Given the description of an element on the screen output the (x, y) to click on. 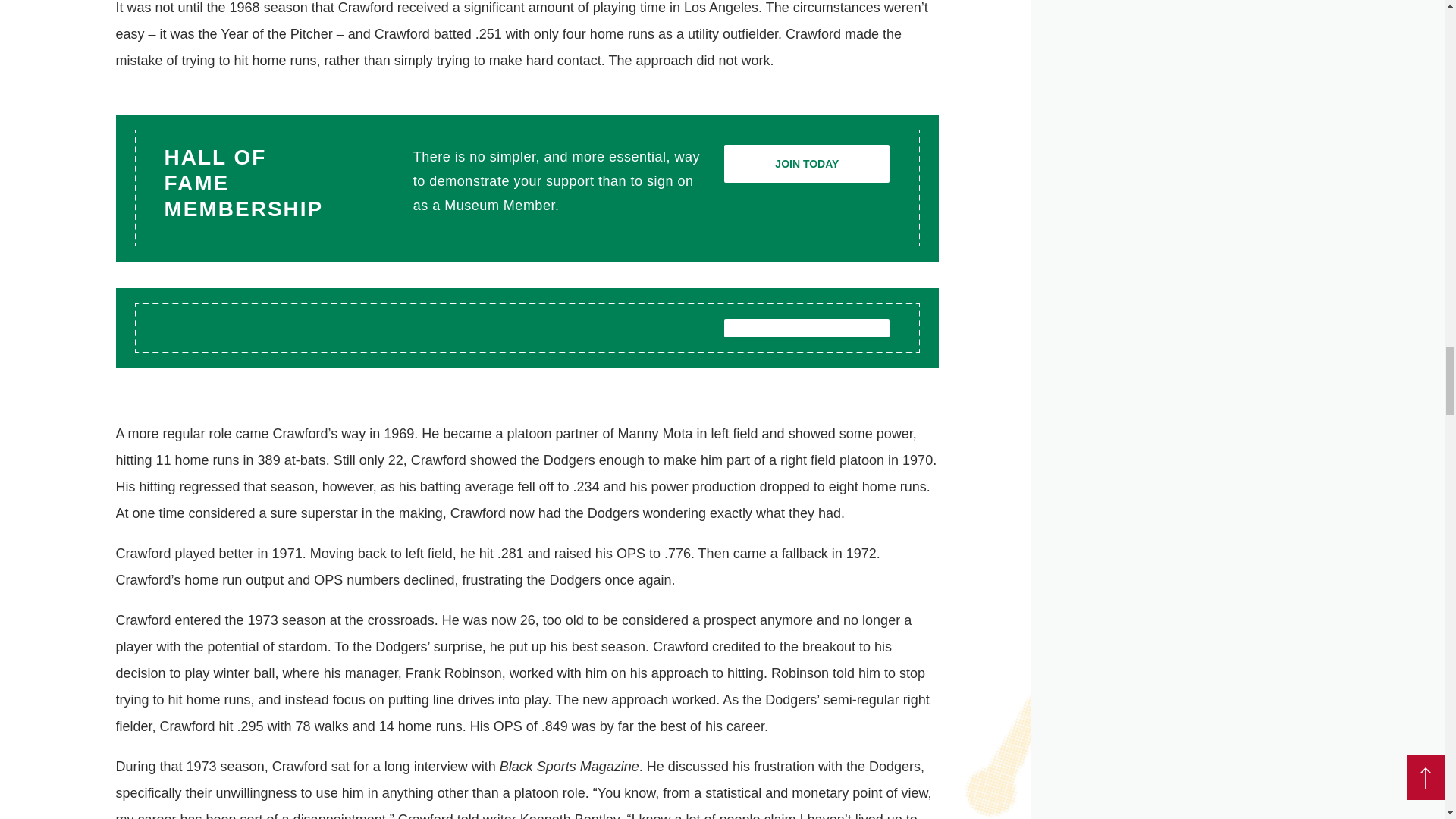
Hall of Fame Membership (806, 163)
